Given the description of an element on the screen output the (x, y) to click on. 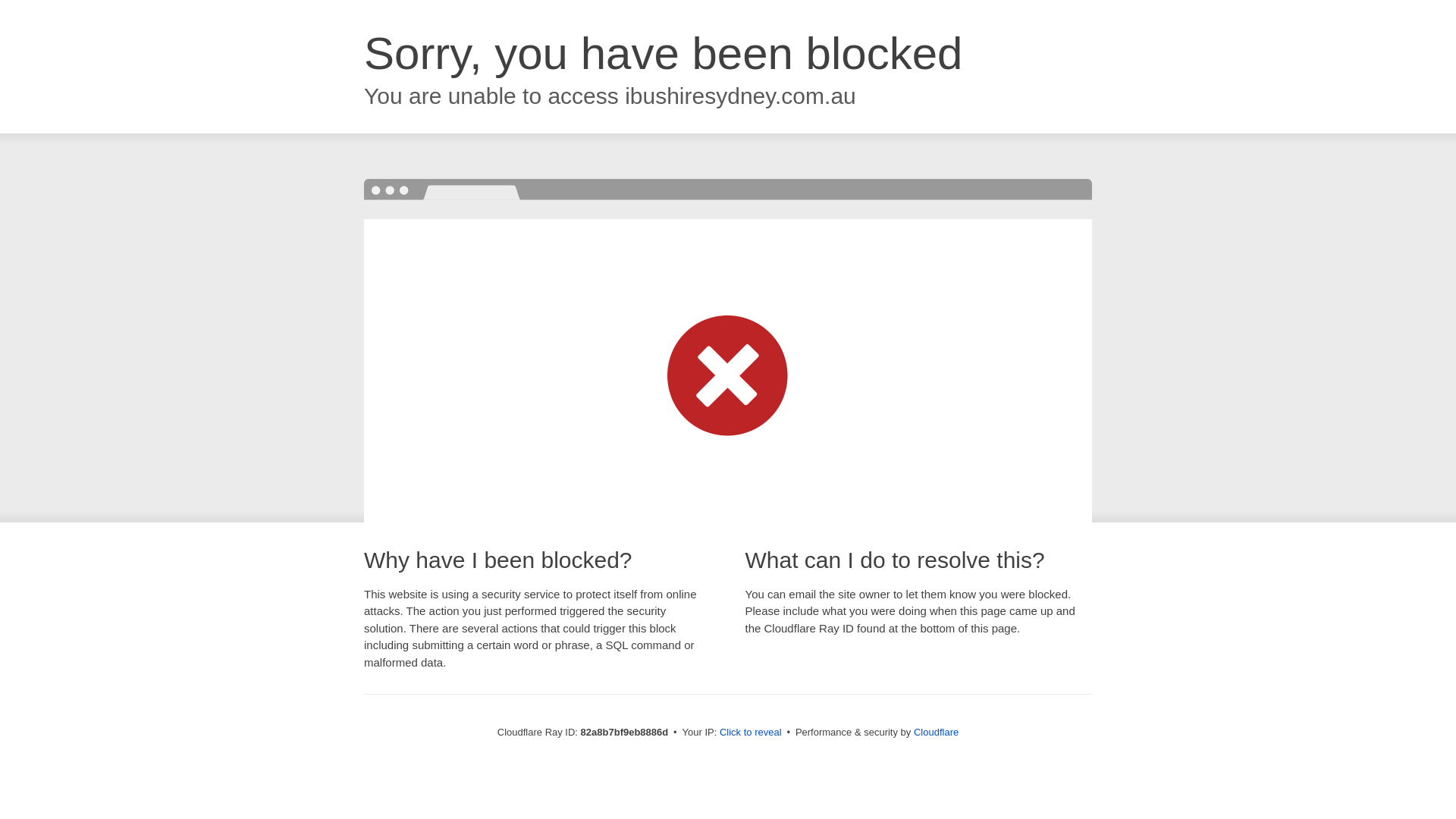
Cloudflare Element type: text (935, 731)
Click to reveal Element type: text (750, 732)
